Given the description of an element on the screen output the (x, y) to click on. 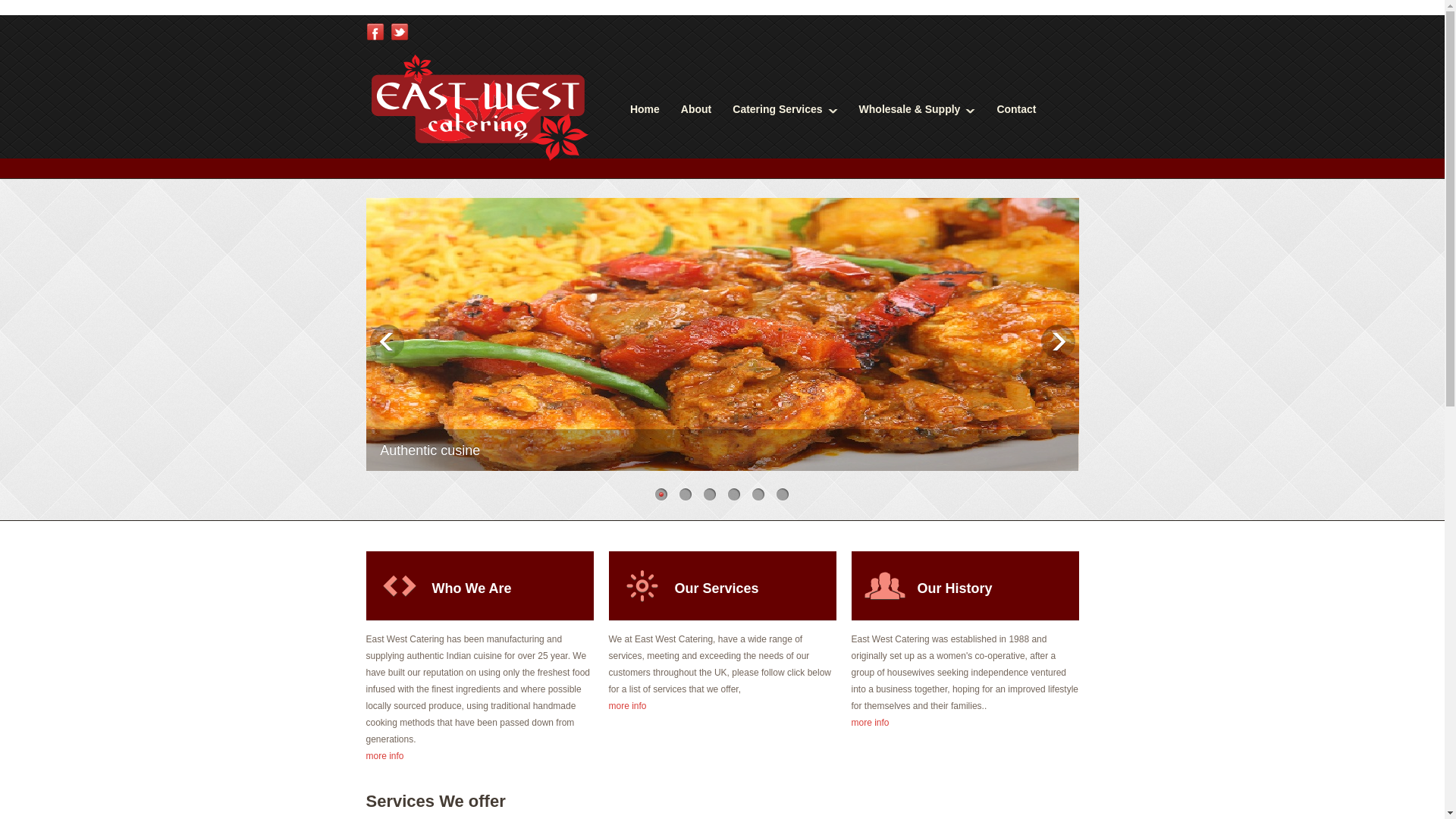
5 (758, 493)
1 (660, 493)
Next (1057, 341)
6 (783, 493)
Previous (386, 341)
About (696, 109)
4 (733, 493)
more info (627, 706)
Catering Services (784, 109)
Contact (1015, 109)
